Given the description of an element on the screen output the (x, y) to click on. 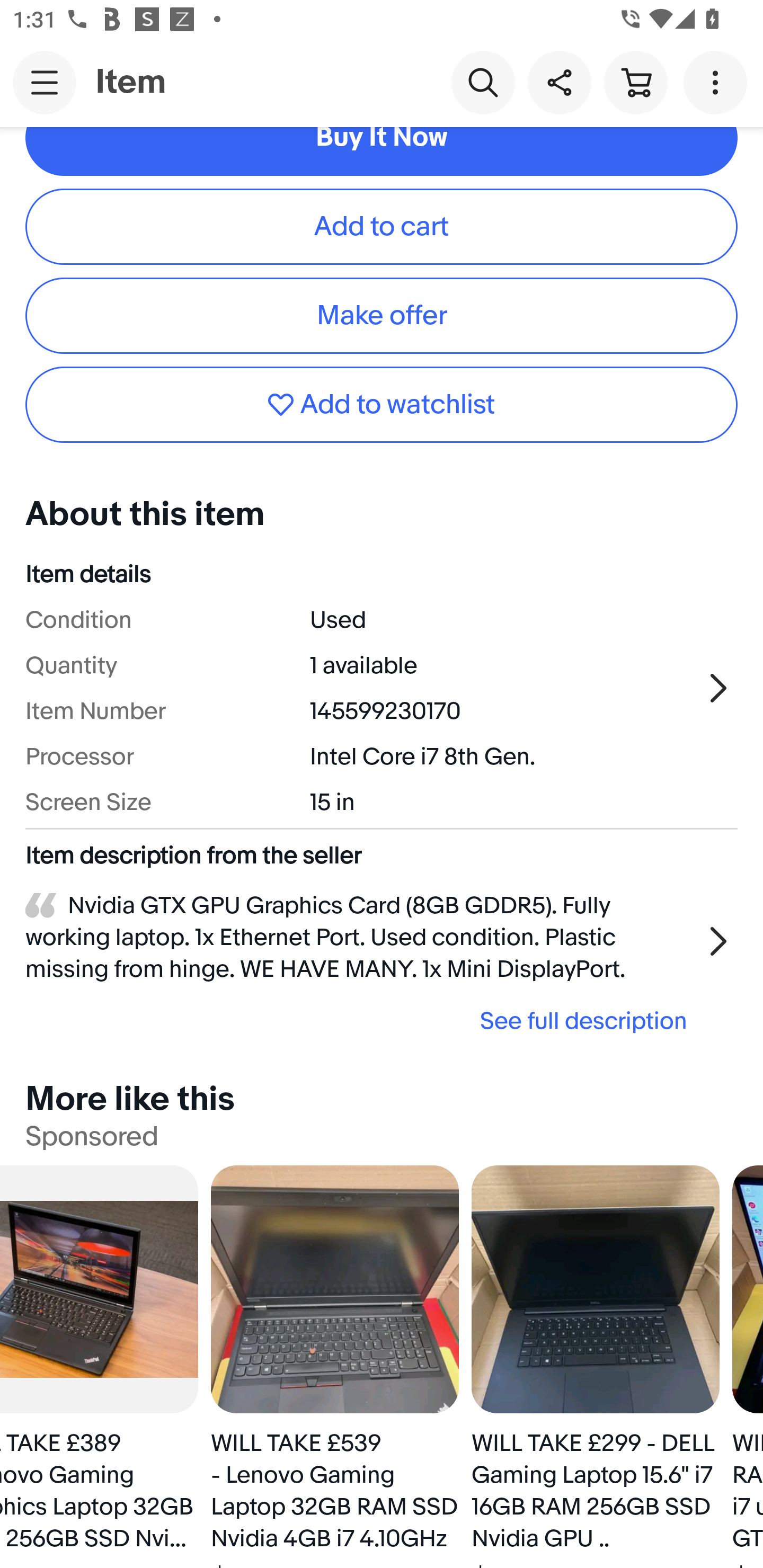
Main navigation, open (44, 82)
Search (482, 81)
Share this item (559, 81)
Cart button shopping cart (635, 81)
More options (718, 81)
Buy It Now (381, 151)
Add to cart (381, 226)
Make offer (381, 315)
Add to watchlist (381, 404)
See full description (362, 1021)
